Given the description of an element on the screen output the (x, y) to click on. 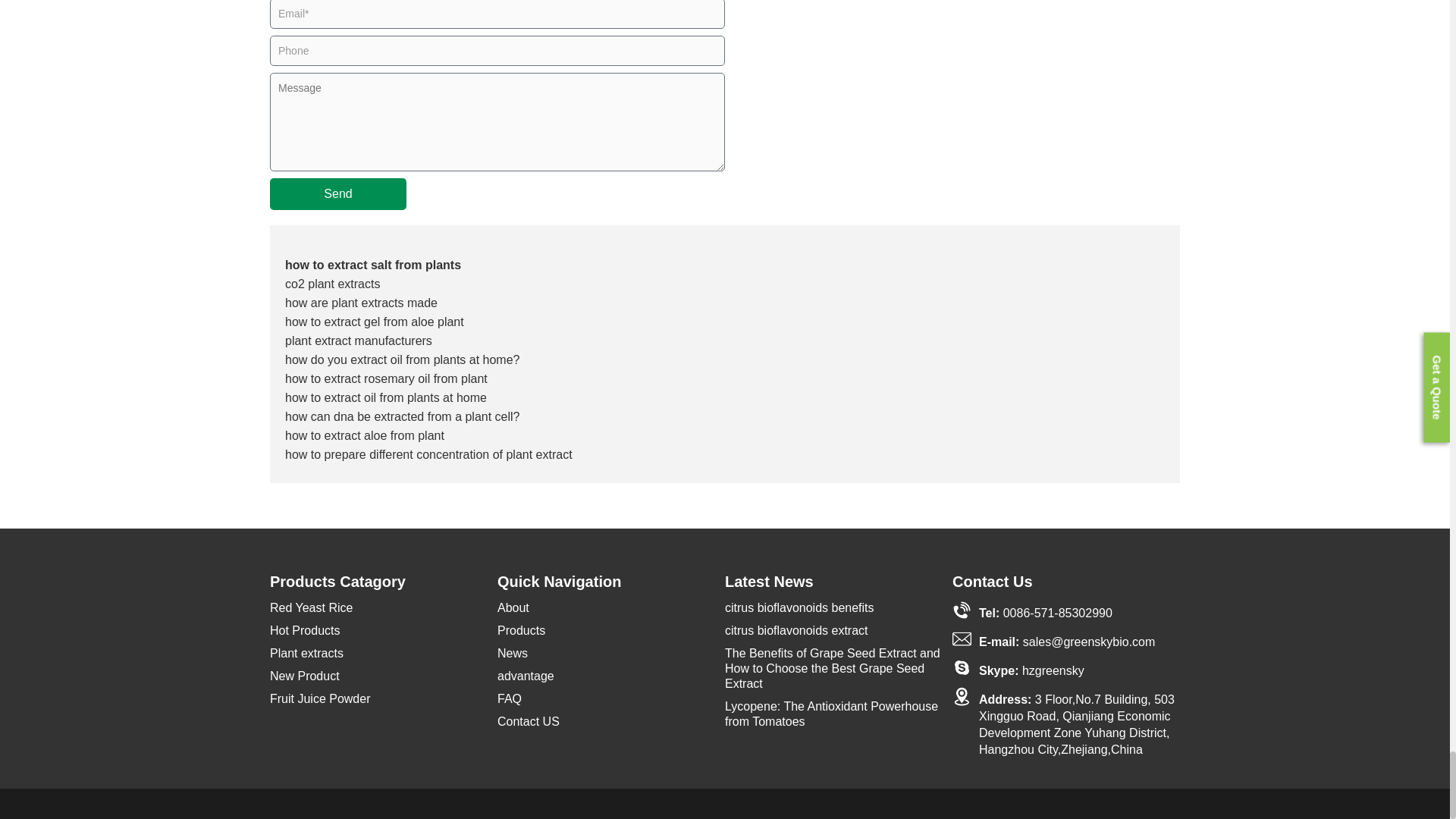
how to extract aloe from plant (364, 435)
how do you extract oil from plants at home? (402, 359)
how are plant extracts made (361, 302)
how to extract gel from aloe plant (374, 321)
plant extract manufacturers (358, 340)
how to prepare different concentration of plant extract (428, 454)
how can dna be extracted from a plant cell? (402, 416)
how to extract oil from plants at home (385, 397)
co2 plant extracts (332, 283)
how to extract rosemary oil from plant (386, 378)
how to extract salt from plants (373, 264)
